Given the description of an element on the screen output the (x, y) to click on. 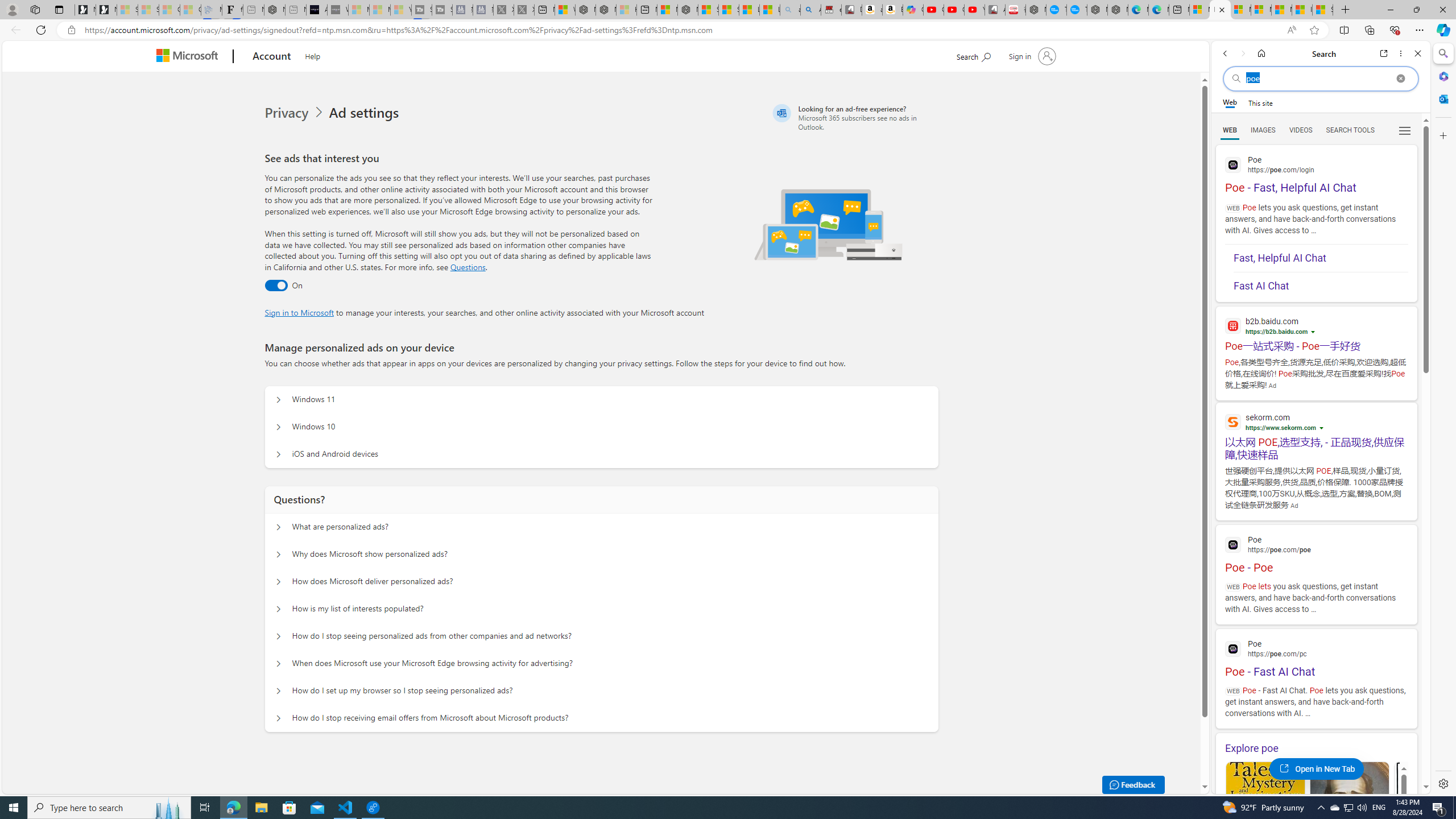
Privacy (287, 112)
Manage personalized ads on your device Windows 10 (278, 427)
Search Microsoft.com (972, 54)
Address and search bar (680, 29)
Web scope (1230, 102)
Poe - Fast, Helpful AI Chat (1315, 173)
Fast AI Chat (1320, 282)
Wildlife - MSN (564, 9)
